Given the description of an element on the screen output the (x, y) to click on. 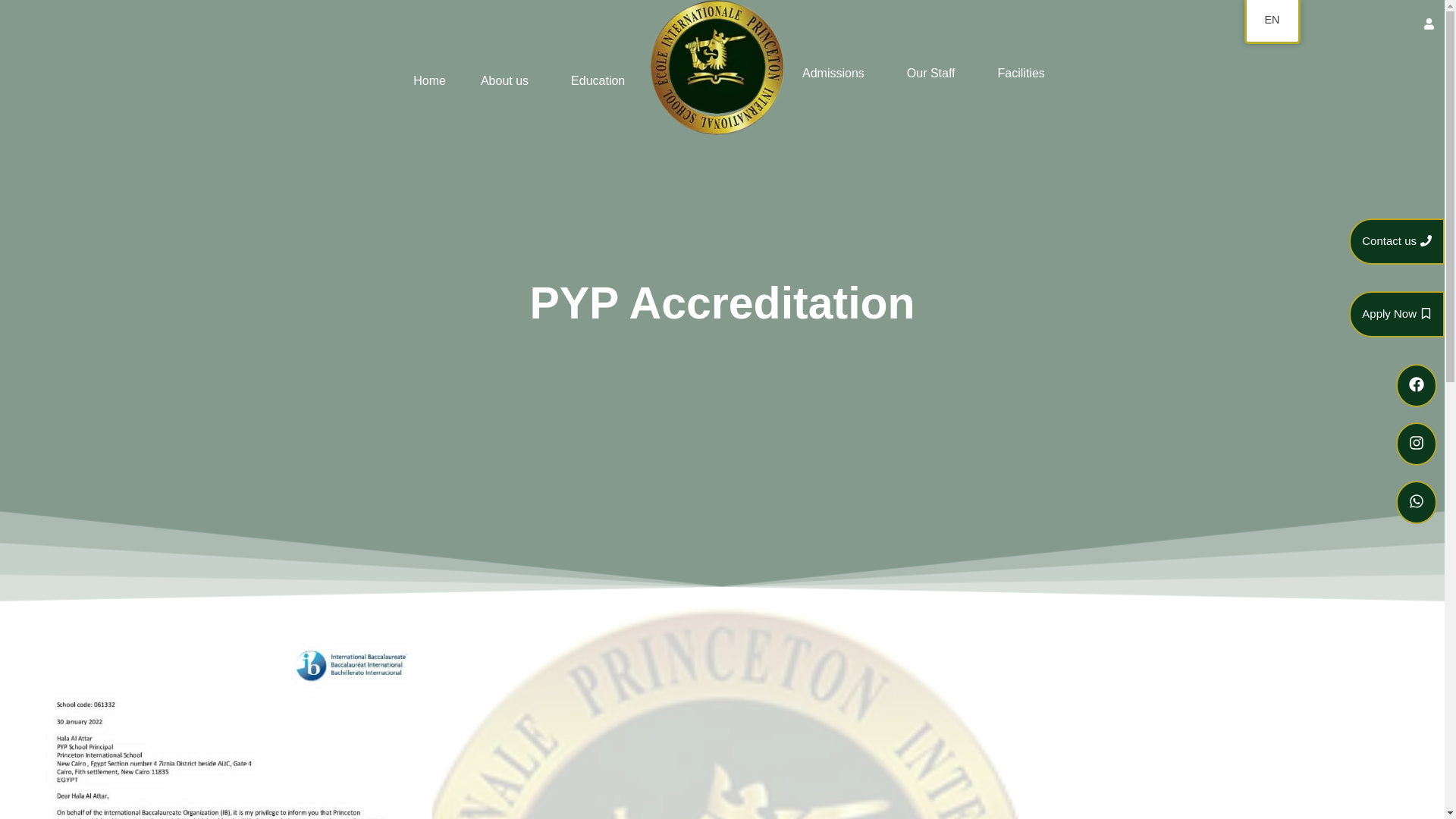
Facilities (1021, 73)
About us (508, 80)
Home (429, 80)
Admissions (837, 73)
Education (601, 80)
Our Staff (934, 73)
